Given the description of an element on the screen output the (x, y) to click on. 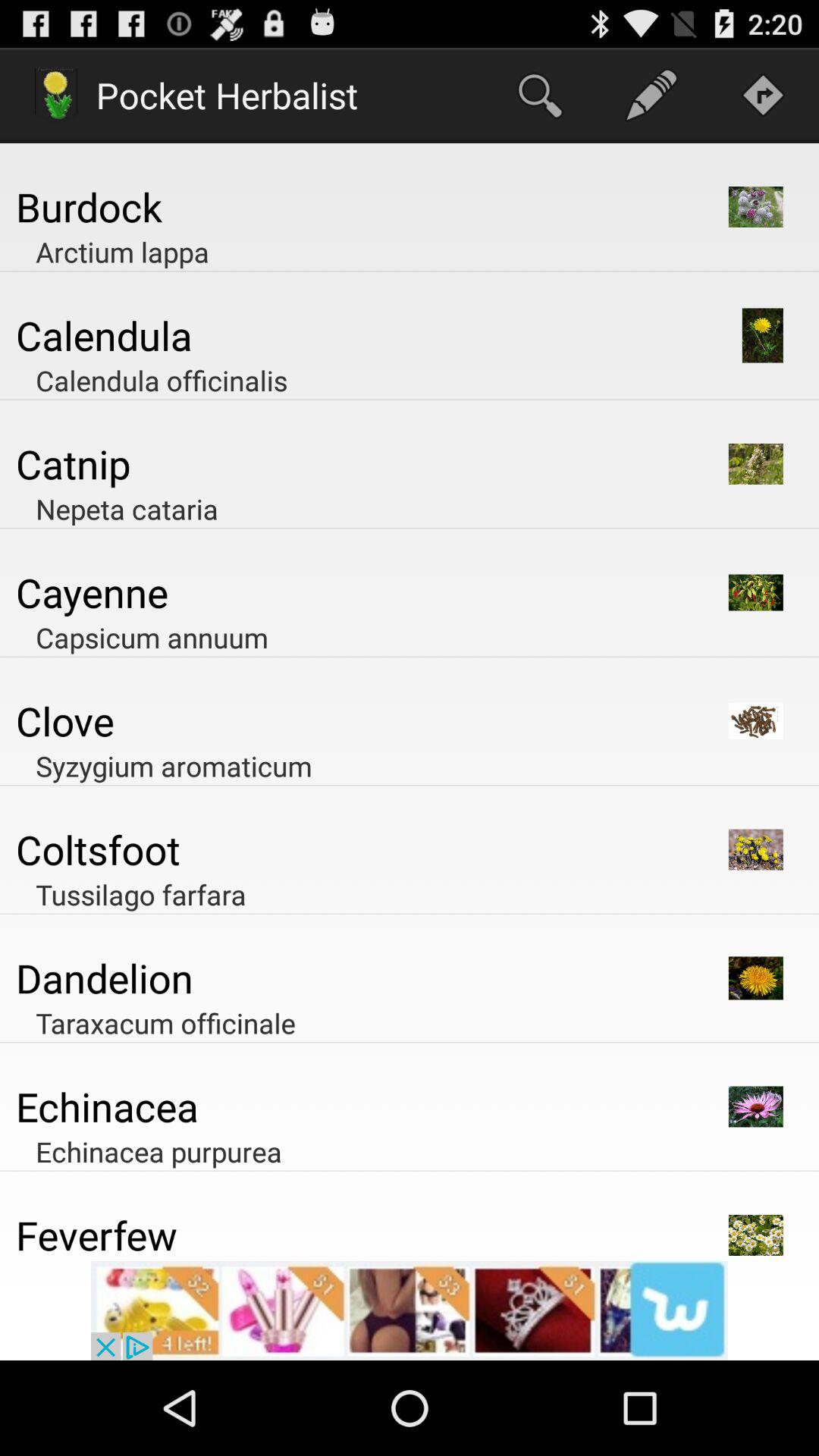
its an advertisement popup (409, 1310)
